Given the description of an element on the screen output the (x, y) to click on. 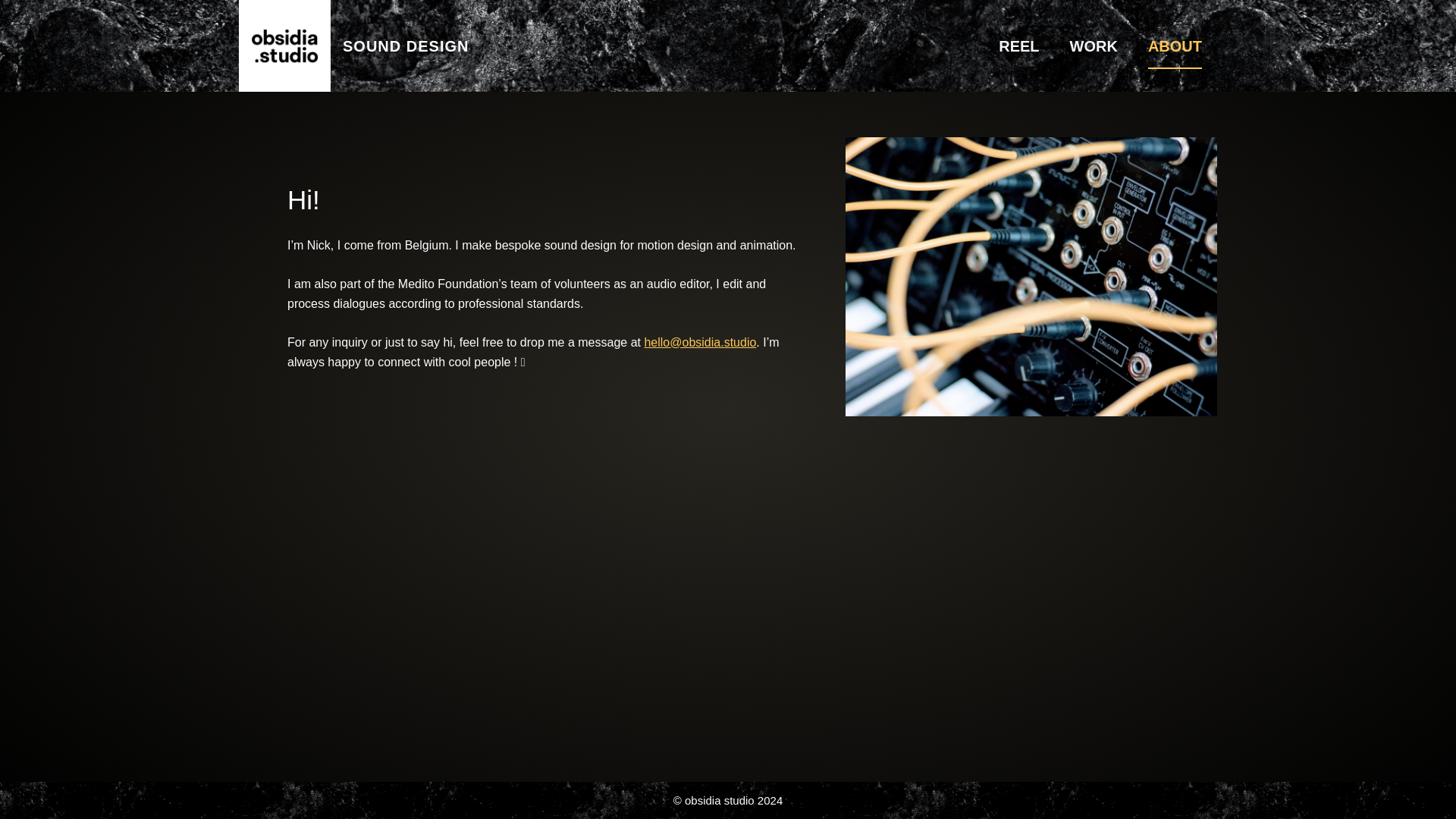
REEL (1019, 45)
ABOUT (1174, 45)
Skip to content (15, 7)
WORK (1093, 45)
